Given the description of an element on the screen output the (x, y) to click on. 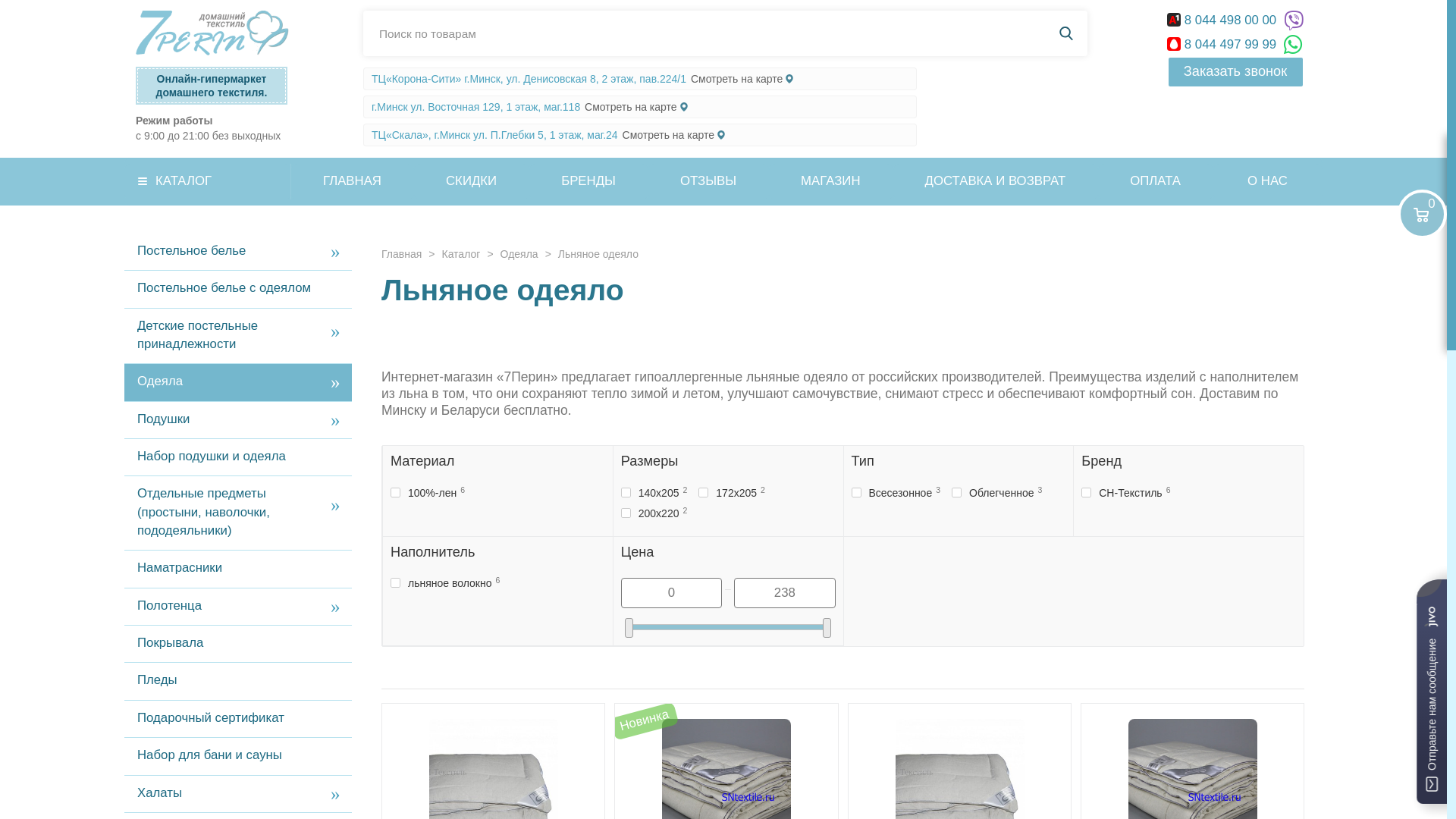
Viber Element type: hover (1293, 20)
8 044 497 99 99 Element type: text (1223, 44)
7perin.by Element type: hover (211, 32)
8 044 498 00 00 Element type: text (1223, 19)
Whatsapp Element type: hover (1293, 44)
